Given the description of an element on the screen output the (x, y) to click on. 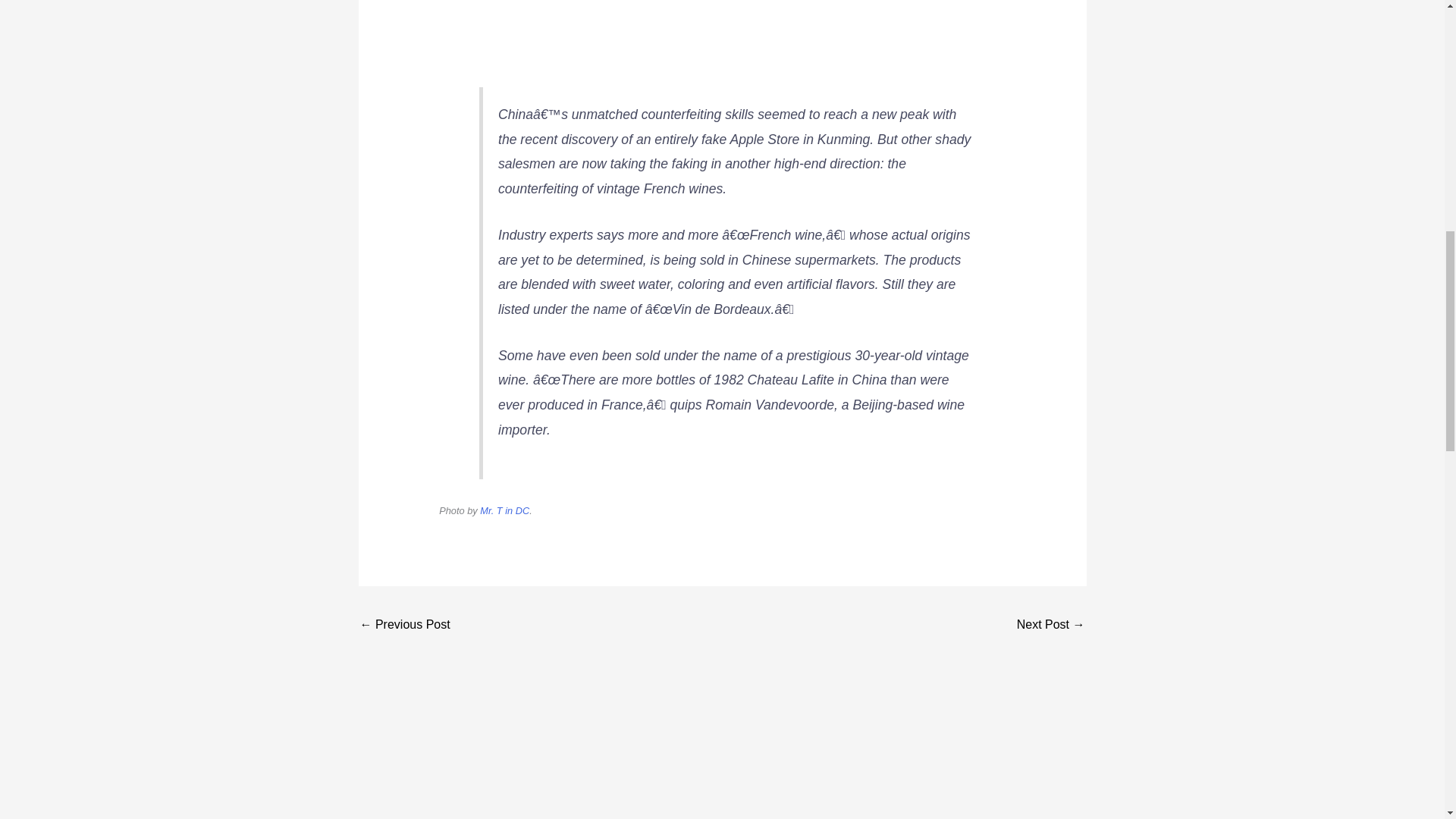
InstyMeds: Pharmaceutical Vending Machines (404, 625)
Supply Chain Management for the Little Guy (1050, 625)
Mr. T in DC (504, 510)
